Given the description of an element on the screen output the (x, y) to click on. 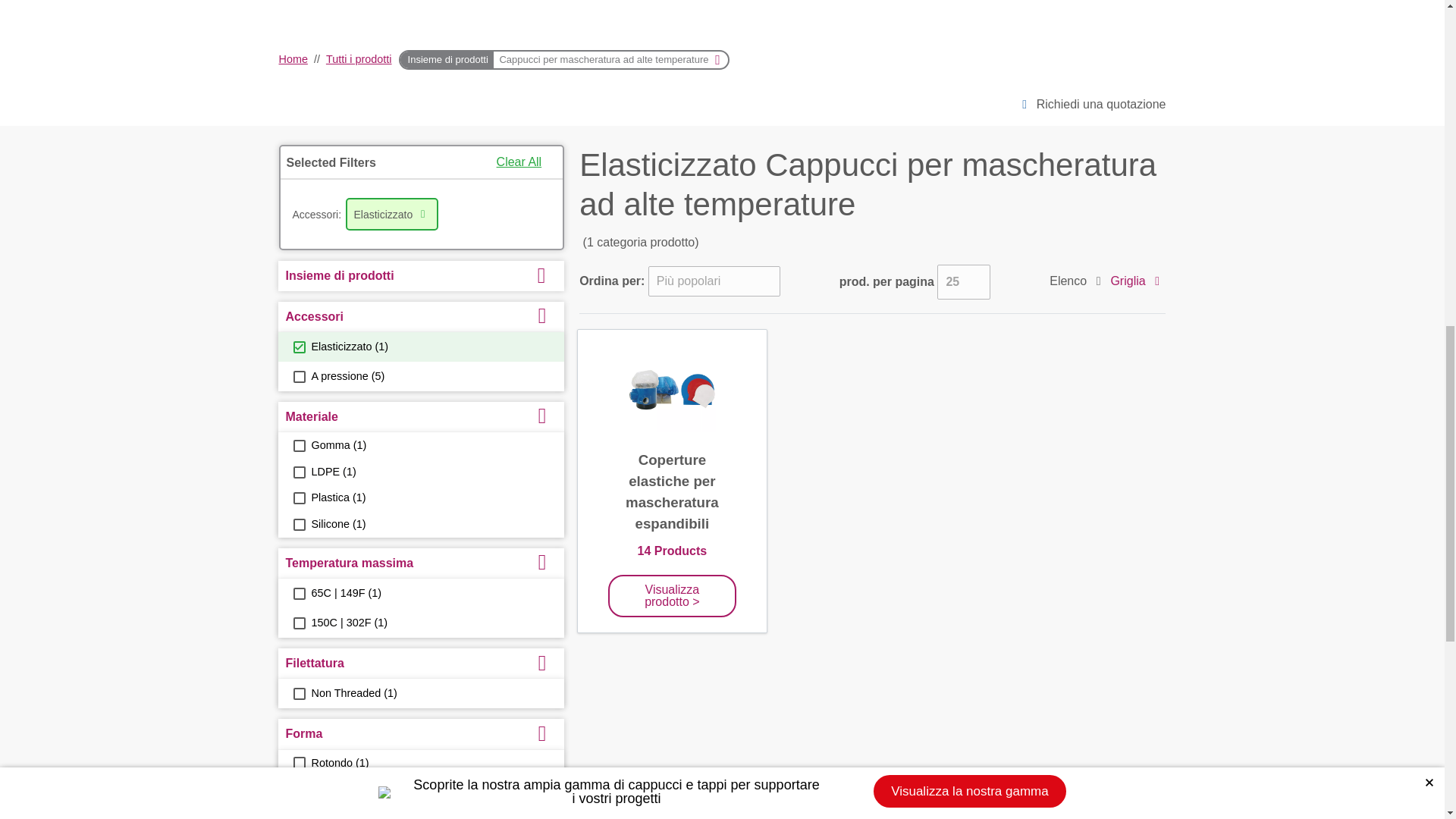
Non Threaded (298, 693)
Elasticizzato (298, 346)
Silicone (298, 524)
Plastica (298, 498)
LDPE (298, 472)
Rotondo (298, 762)
A pressione (298, 377)
Gomma (298, 445)
